Given the description of an element on the screen output the (x, y) to click on. 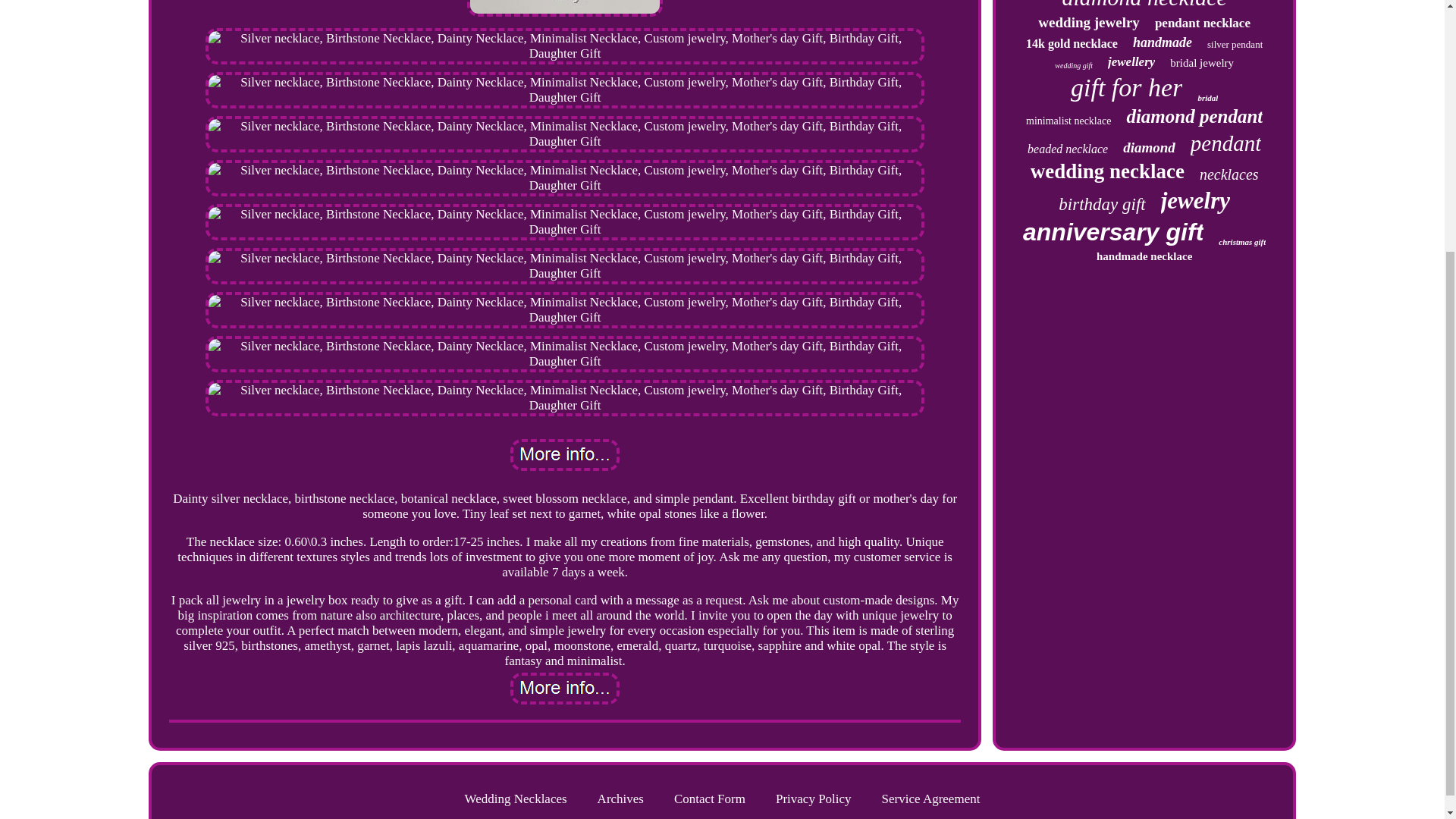
pendant necklace (1202, 23)
jewellery (1131, 61)
minimalist necklace (1068, 121)
beaded necklace (1067, 149)
diamond necklace (1143, 5)
